Given the description of an element on the screen output the (x, y) to click on. 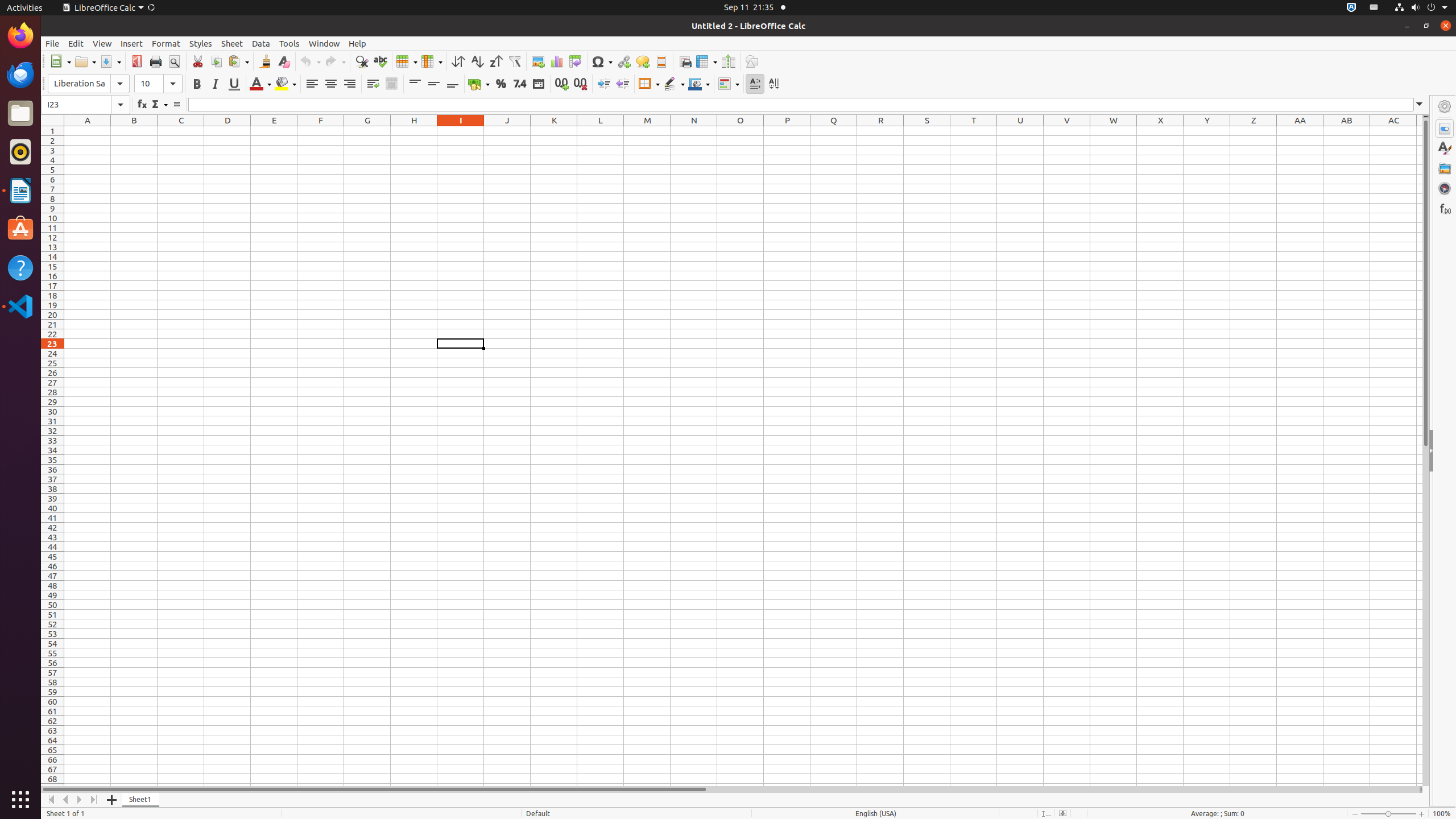
Undo Element type: push-button (309, 61)
Align Top Element type: push-button (414, 83)
Vertical scroll bar Element type: scroll-bar (1425, 451)
K1 Element type: table-cell (553, 130)
